Given the description of an element on the screen output the (x, y) to click on. 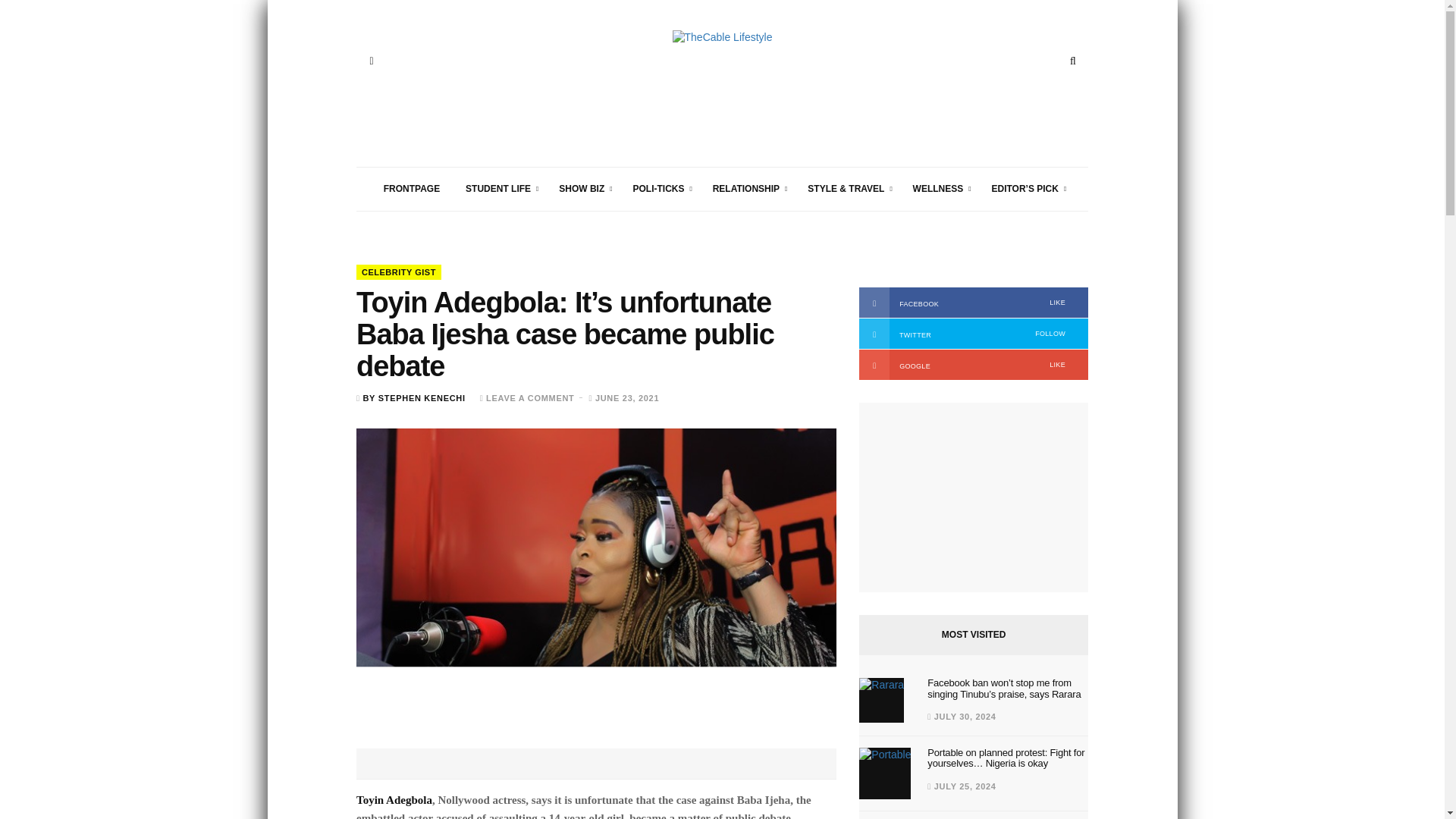
SHOW BIZ (582, 242)
POLI-TICKS (659, 242)
STUDENT LIFE (499, 242)
Search (1072, 60)
FRONTPAGE (411, 242)
